Given the description of an element on the screen output the (x, y) to click on. 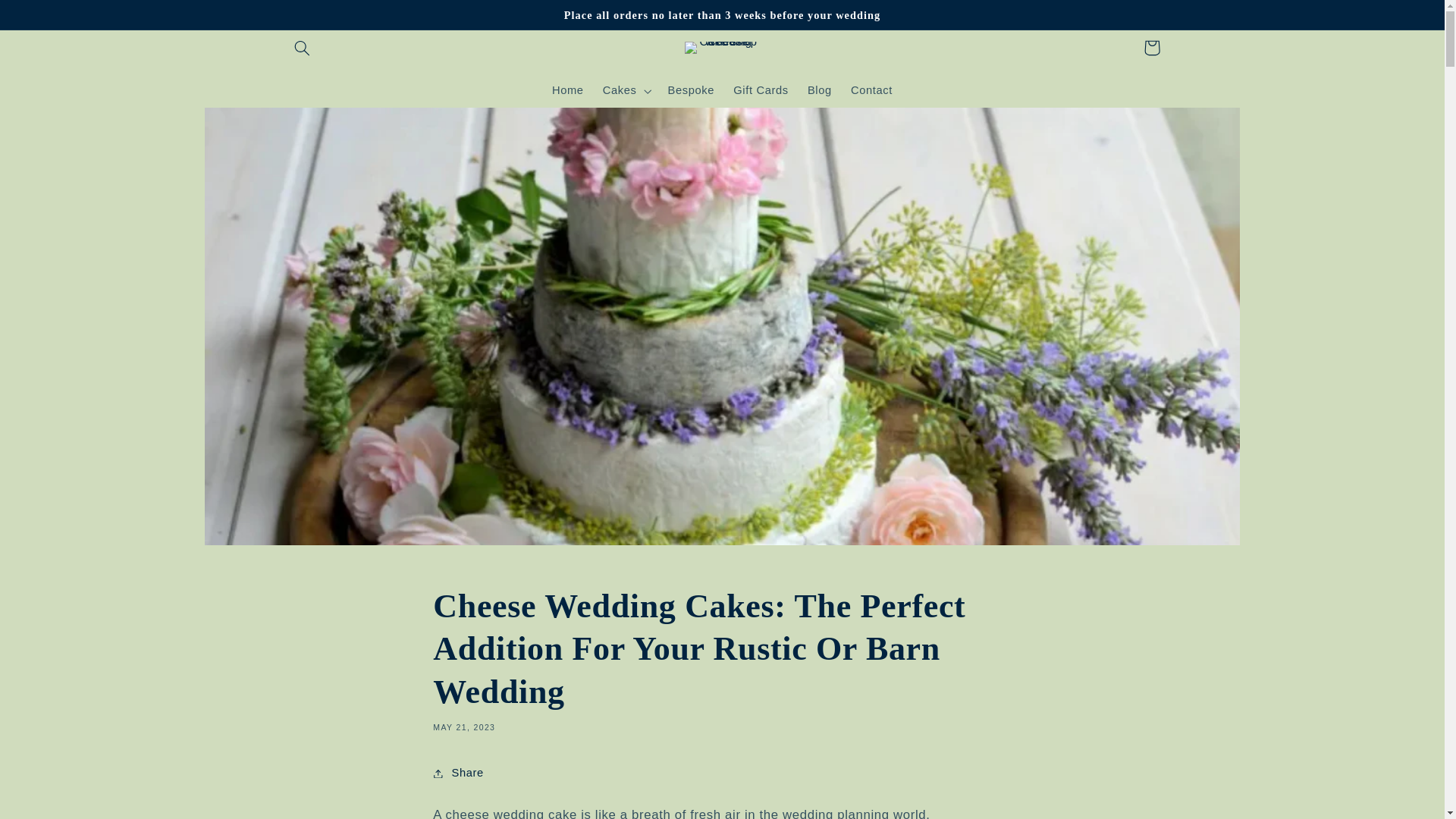
Gift Cards (760, 90)
Skip to content (48, 18)
Cart (1151, 47)
Bespoke (690, 90)
Contact (871, 90)
Blog (819, 90)
Home (566, 90)
